Given the description of an element on the screen output the (x, y) to click on. 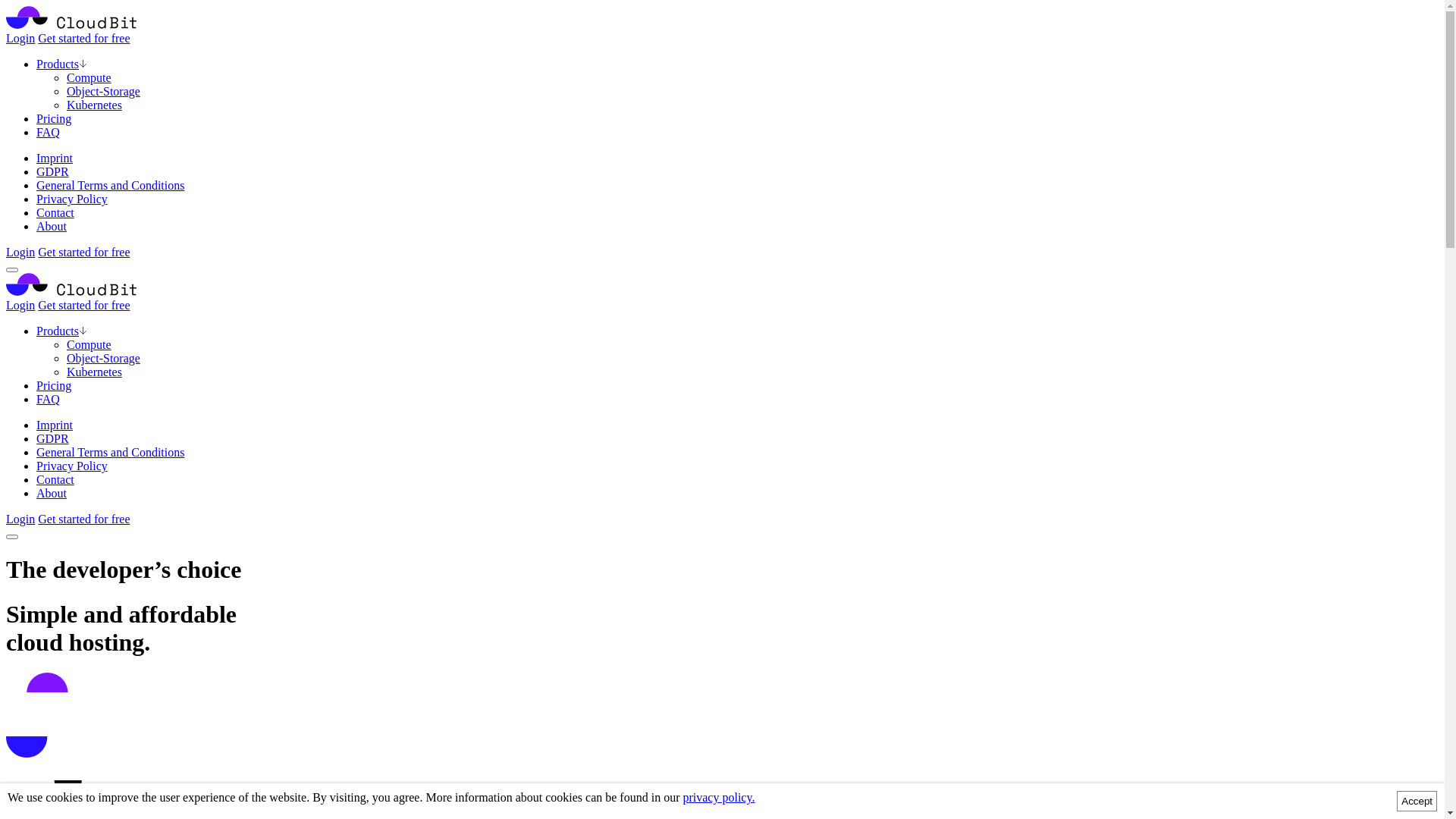
General Terms and Conditions Element type: text (110, 184)
Get started for free Element type: text (83, 37)
Privacy Policy Element type: text (71, 465)
Object-Storage Element type: text (103, 357)
Compute Element type: text (88, 344)
Kubernetes Element type: text (94, 371)
Imprint Element type: text (54, 157)
privacy policy. Element type: text (718, 796)
Login Element type: text (20, 251)
Cloudbit Element type: hover (71, 291)
Pricing Element type: text (53, 385)
Contact Element type: text (55, 212)
About Element type: text (51, 225)
FAQ Element type: text (47, 131)
Products Element type: text (57, 63)
Get started for free Element type: text (83, 251)
Login Element type: text (20, 37)
Privacy Policy Element type: text (71, 198)
Imprint Element type: text (54, 424)
Object-Storage Element type: text (103, 90)
Contact Element type: text (55, 479)
GDPR Element type: text (52, 438)
Login Element type: text (20, 518)
GDPR Element type: text (52, 171)
Cloudbit Element type: hover (71, 24)
FAQ Element type: text (47, 398)
Compute Element type: text (88, 77)
General Terms and Conditions Element type: text (110, 451)
Accept Element type: text (1416, 800)
About Element type: text (51, 492)
Pricing Element type: text (53, 118)
Kubernetes Element type: text (94, 104)
Products Element type: text (57, 330)
Get started for free Element type: text (83, 304)
Login Element type: text (20, 304)
Get started for free Element type: text (83, 518)
